Given the description of an element on the screen output the (x, y) to click on. 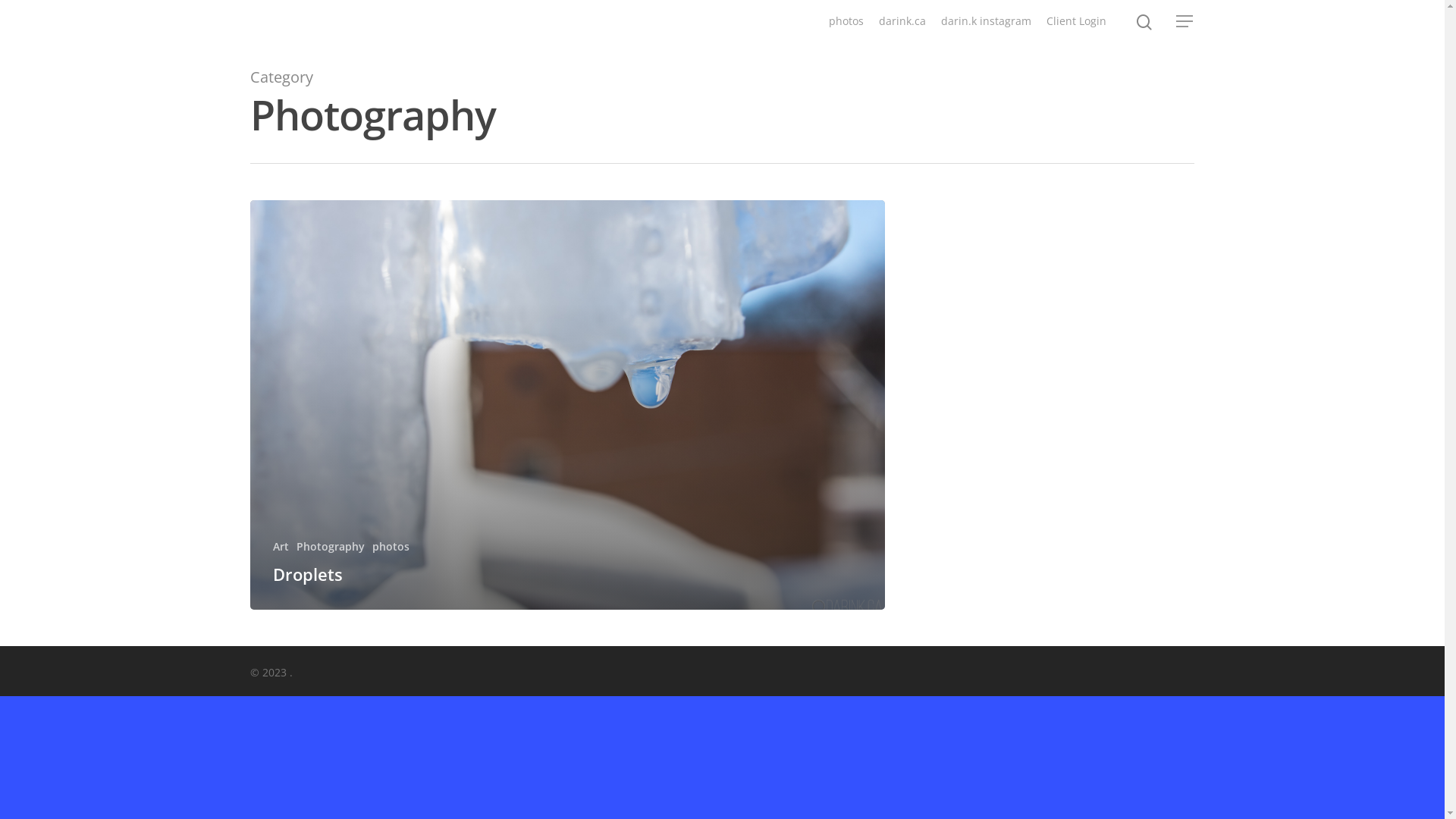
photos Element type: text (845, 20)
Art Element type: text (280, 546)
Droplets Element type: text (307, 573)
Photography Element type: text (330, 546)
darin.k instagram Element type: text (986, 20)
darink.ca Element type: text (901, 20)
Client Login Element type: text (1076, 20)
photos Element type: text (390, 546)
